Given the description of an element on the screen output the (x, y) to click on. 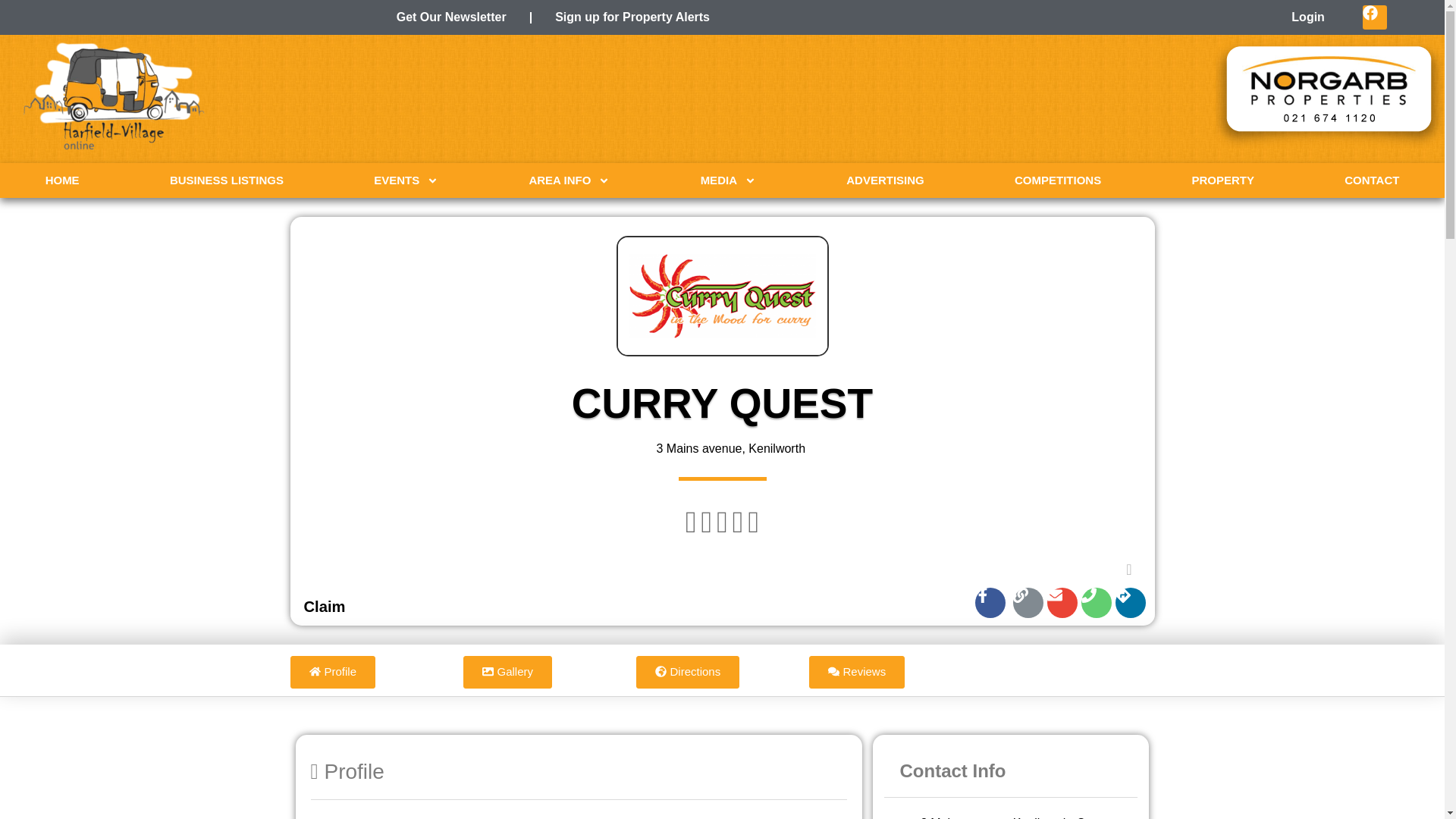
BUSINESS LISTINGS (226, 180)
ADVERTISING (885, 180)
MEDIA (728, 180)
COMPETITIONS (1057, 180)
HOME (61, 180)
Get Our Newsletter (451, 16)
Sign up for Property Alerts (632, 16)
Login (1307, 17)
AREA INFO (569, 180)
EVENTS (406, 180)
PROPERTY (1223, 180)
